Given the description of an element on the screen output the (x, y) to click on. 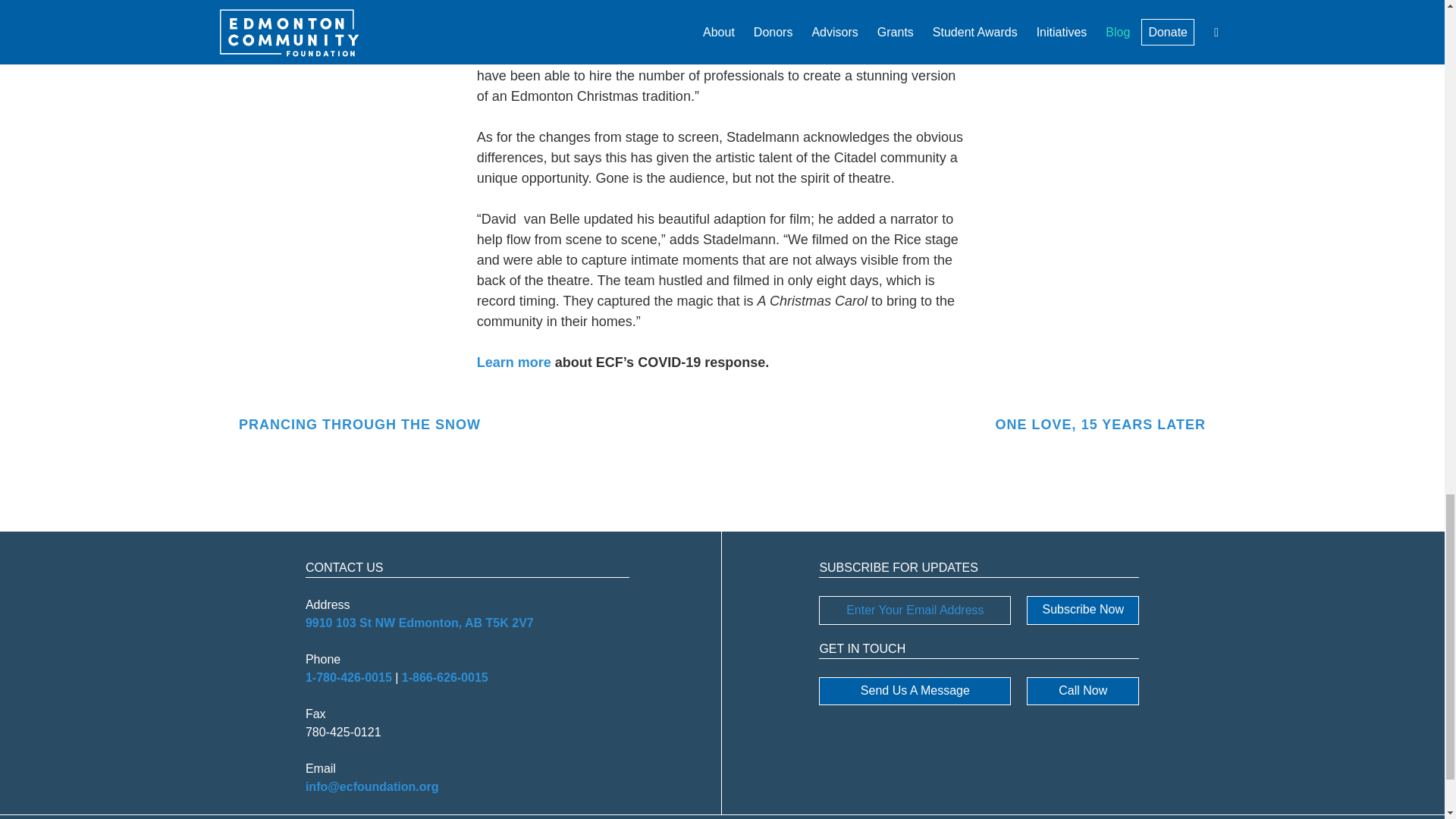
Subscribe Now (1082, 610)
